Given the description of an element on the screen output the (x, y) to click on. 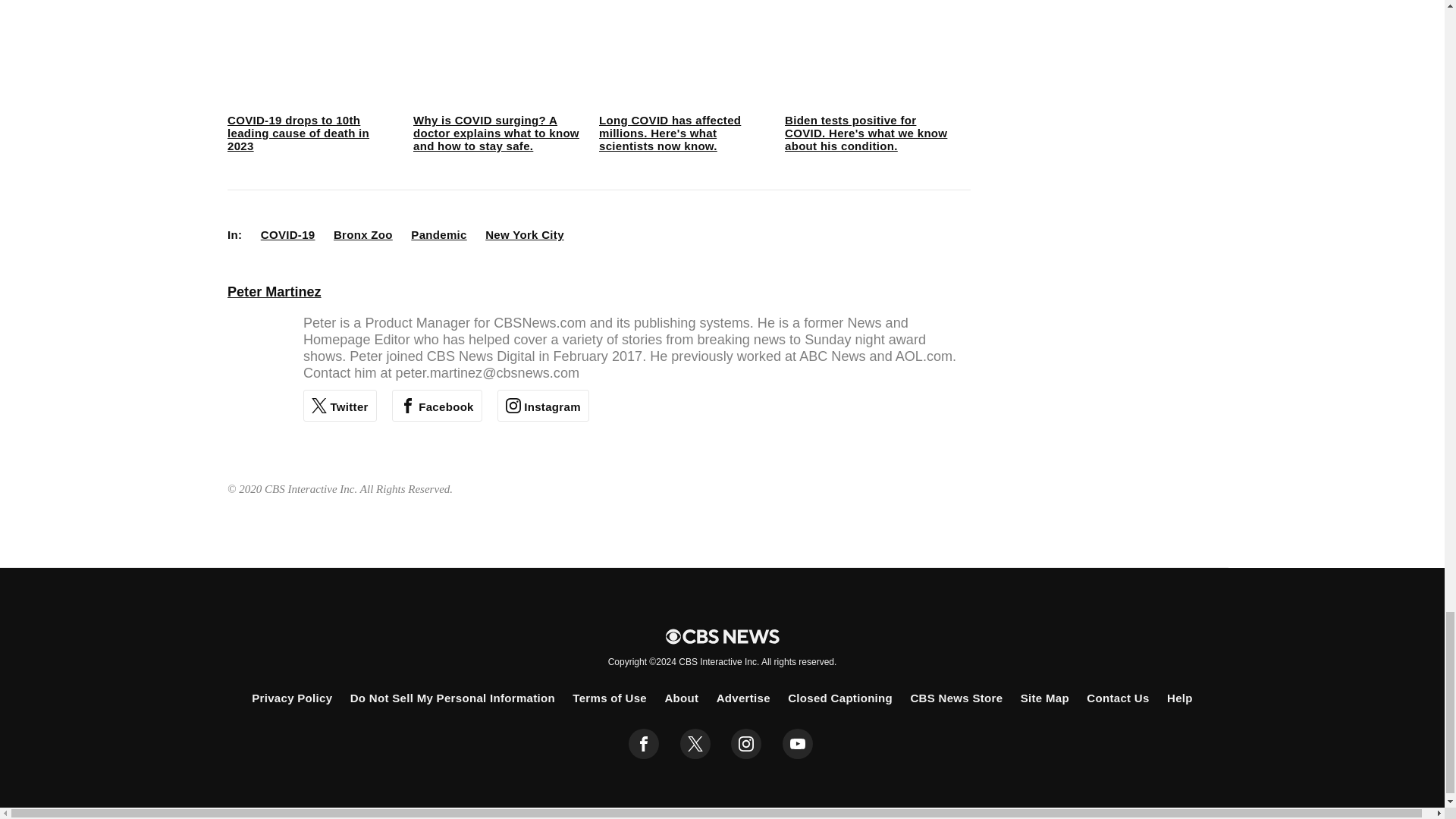
instagram (745, 743)
facebook (643, 743)
twitter (694, 743)
youtube (797, 743)
